Given the description of an element on the screen output the (x, y) to click on. 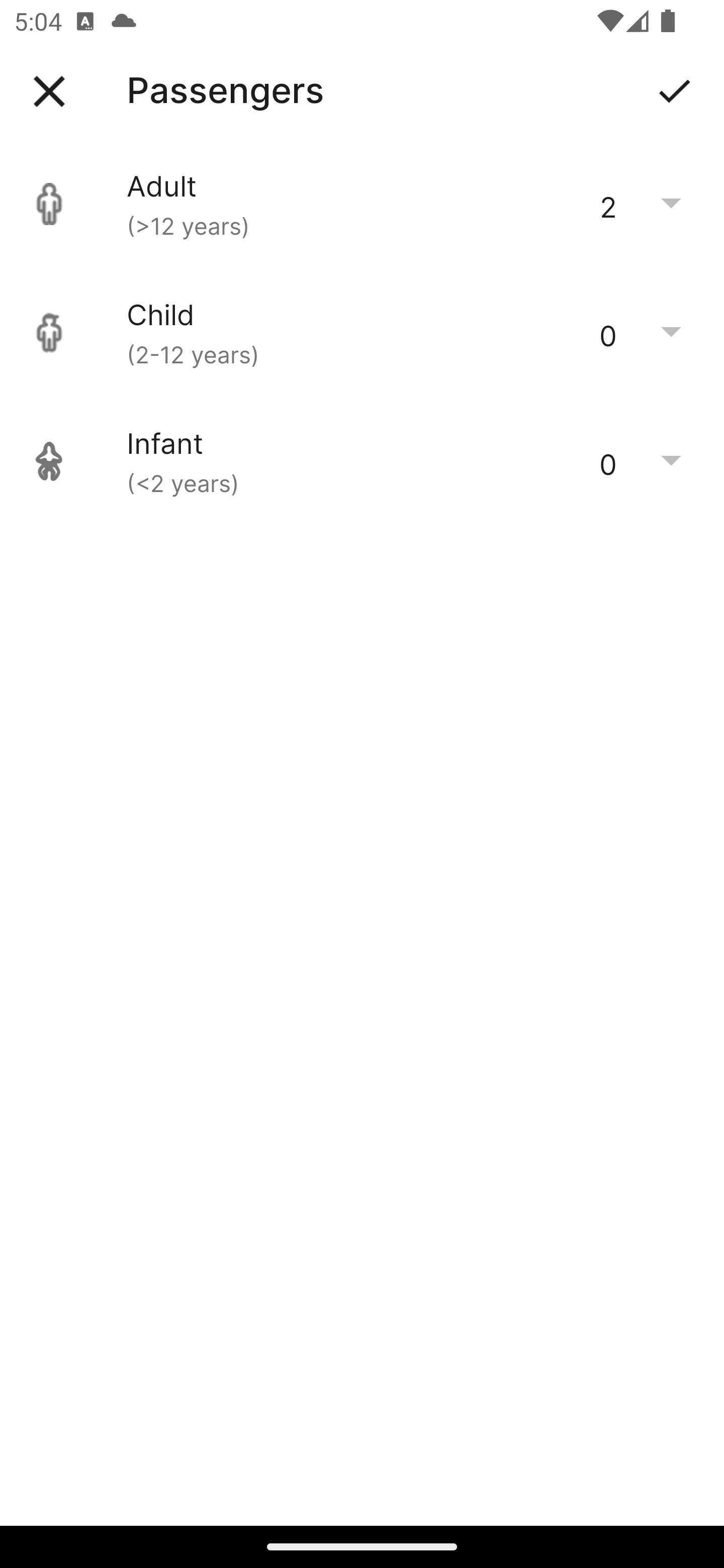
Adult (>12 years) 2 (362, 204)
Child (2-12 years) 0 (362, 332)
Infant (<2 years) 0 (362, 461)
